Given the description of an element on the screen output the (x, y) to click on. 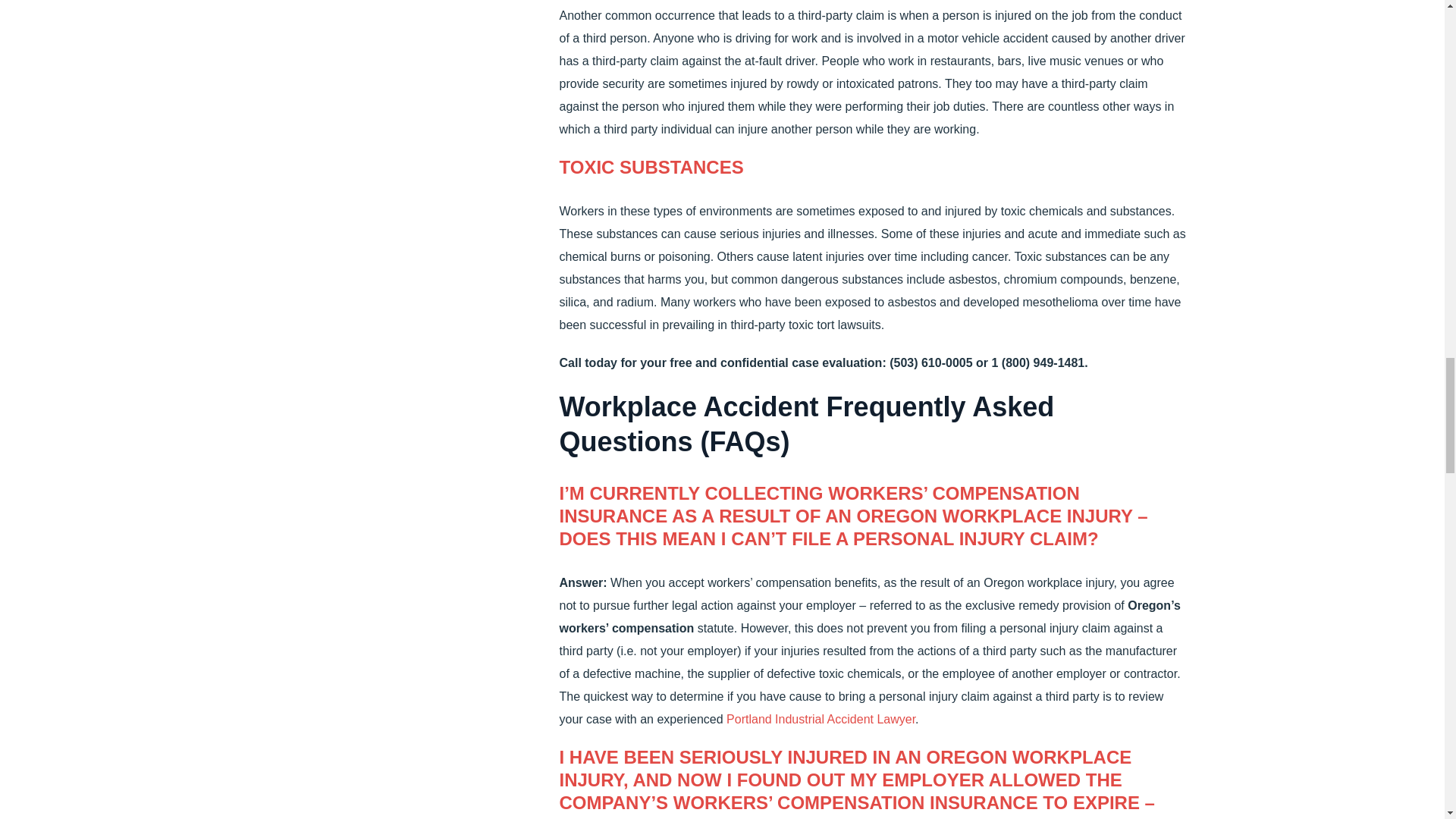
IA (820, 718)
